Given the description of an element on the screen output the (x, y) to click on. 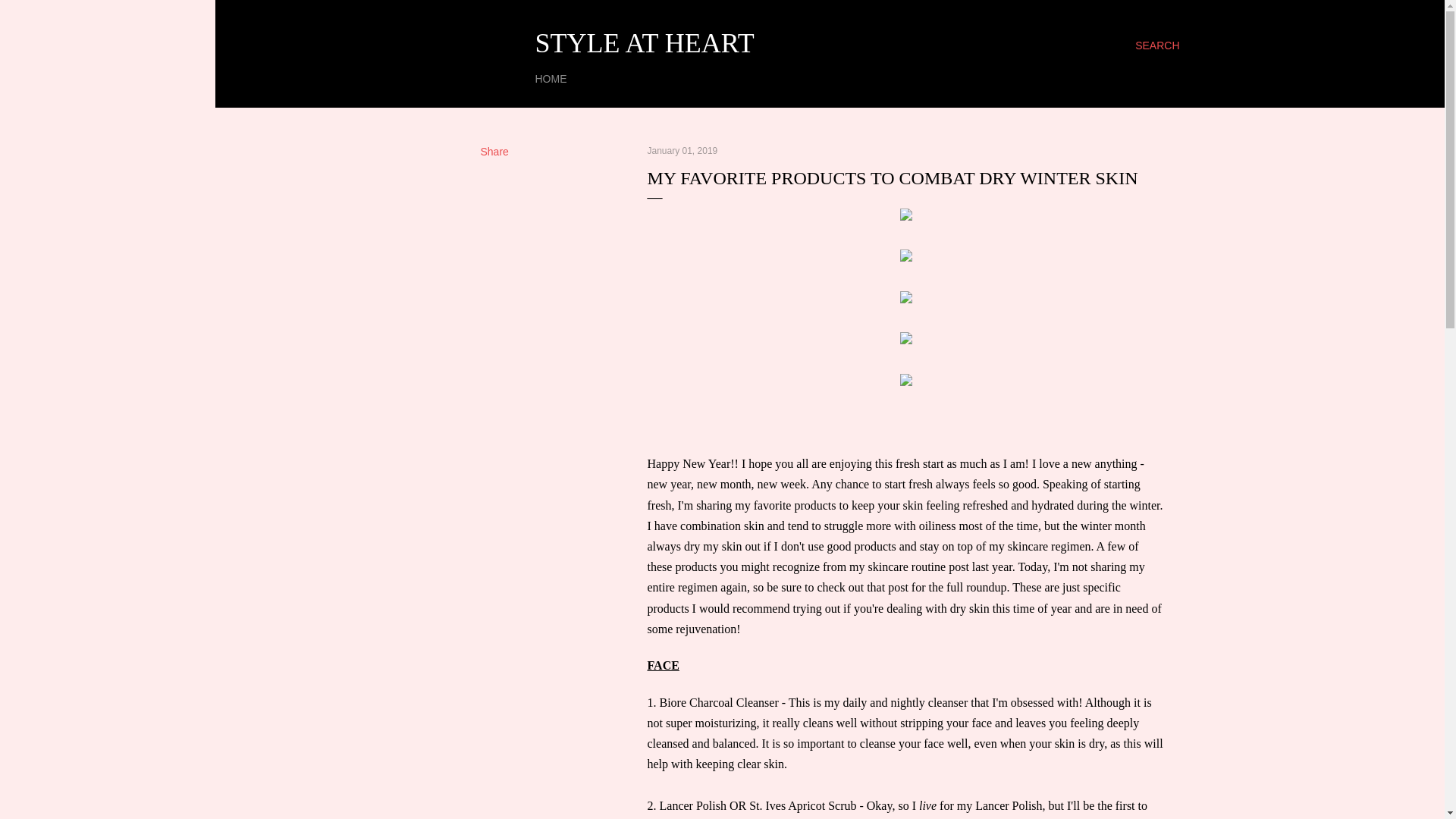
STYLE AT HEART (644, 42)
Share (494, 151)
HOME (551, 78)
SEARCH (1157, 45)
January 01, 2019 (682, 150)
permanent link (682, 150)
